Given the description of an element on the screen output the (x, y) to click on. 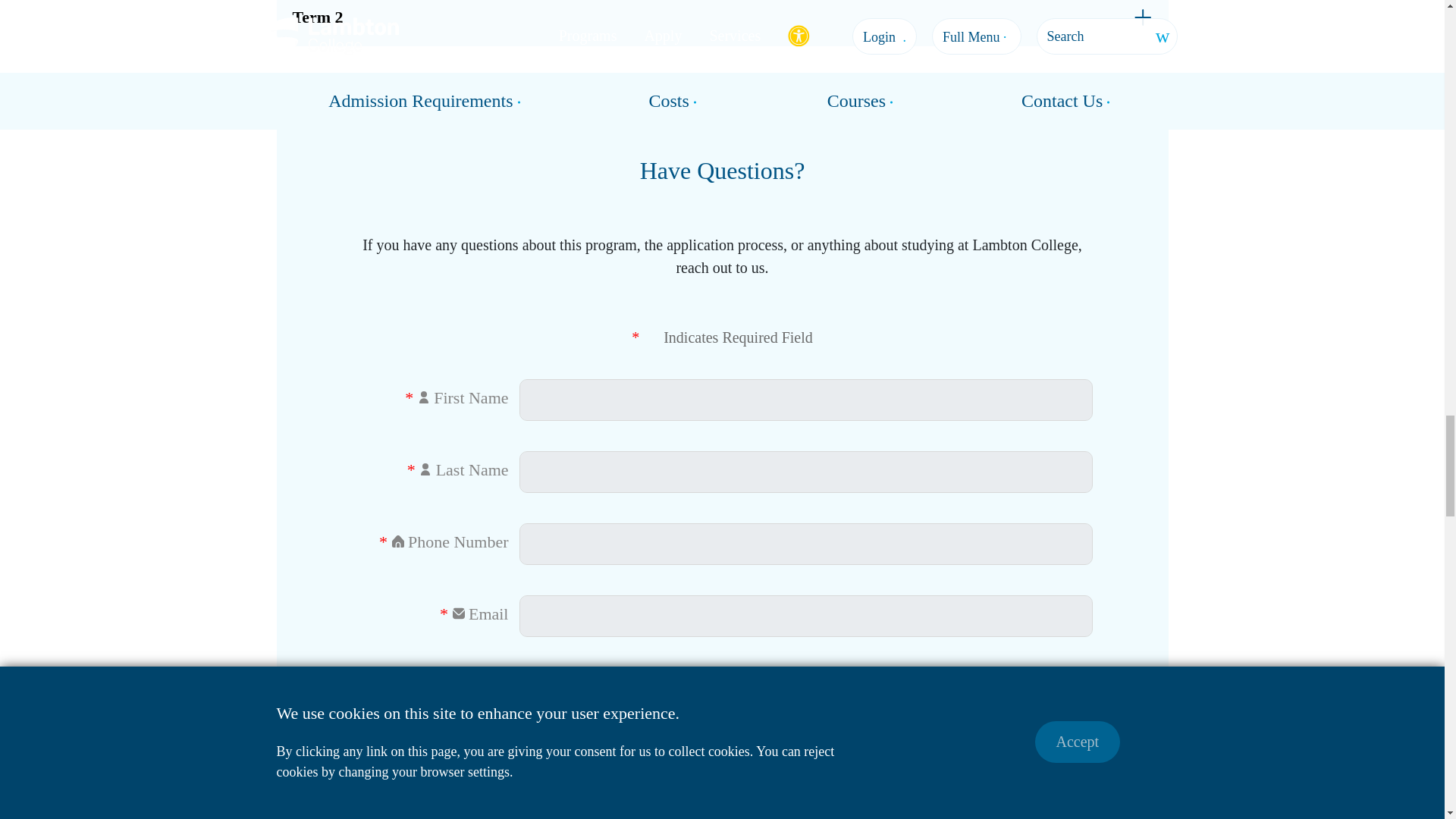
Term 2 (722, 22)
